Given the description of an element on the screen output the (x, y) to click on. 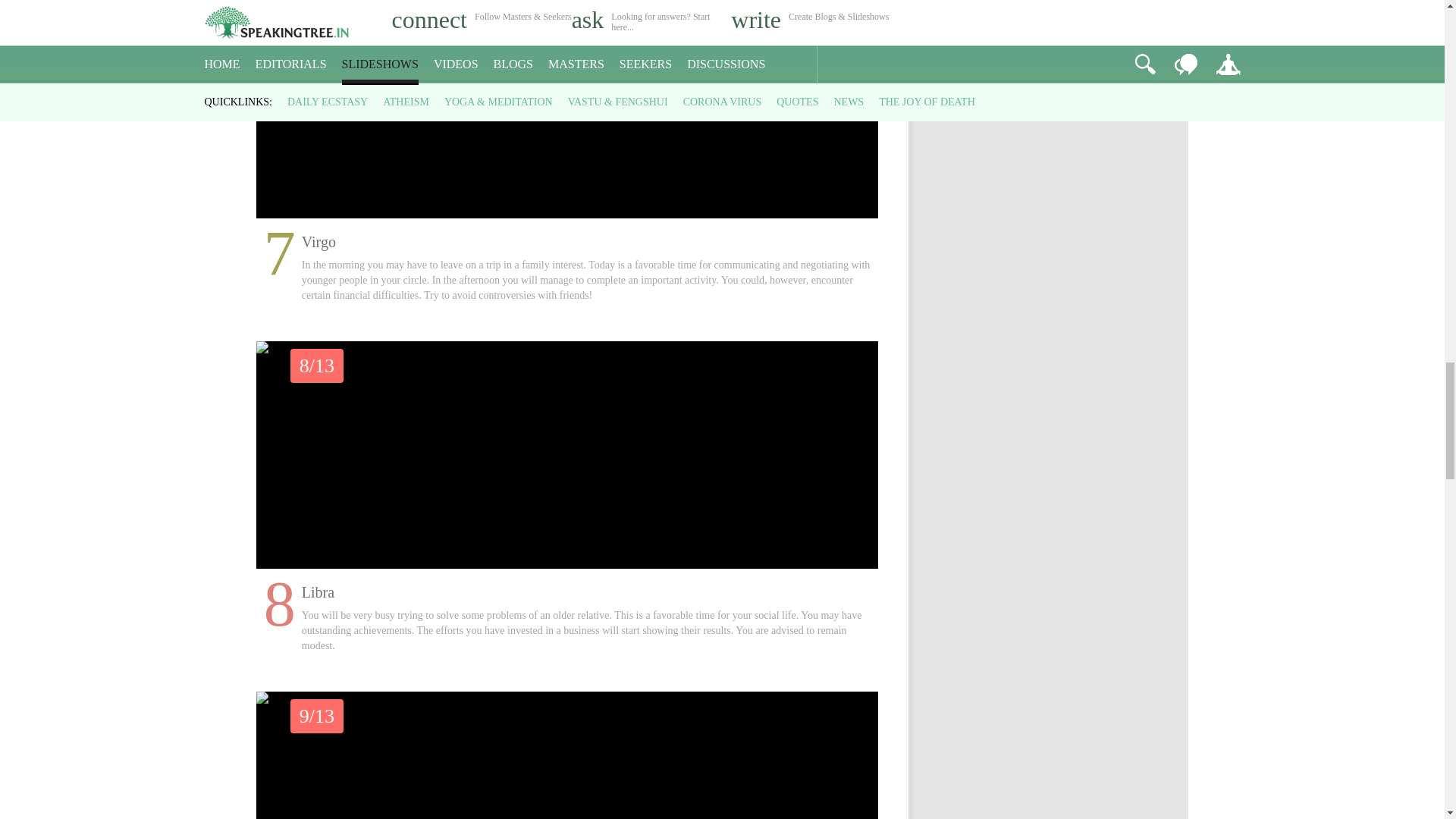
Scorpio (567, 755)
